Given the description of an element on the screen output the (x, y) to click on. 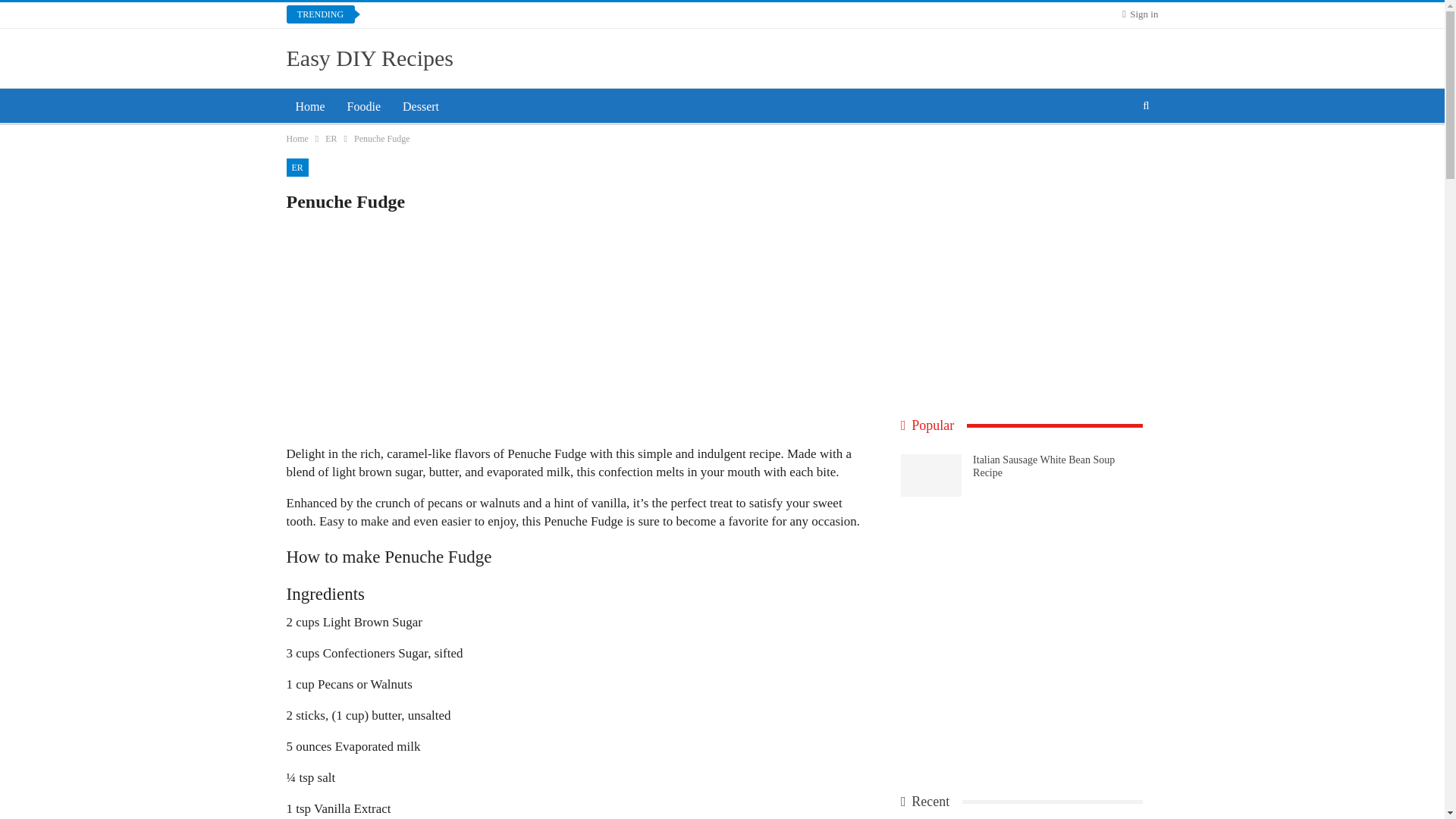
Foodie (363, 106)
ER (297, 167)
Italian Sausage White Bean Soup Recipe (930, 475)
Sign in (1139, 13)
Home (310, 106)
Easy DIY Recipes (370, 57)
Dessert (420, 106)
Home (297, 138)
